Given the description of an element on the screen output the (x, y) to click on. 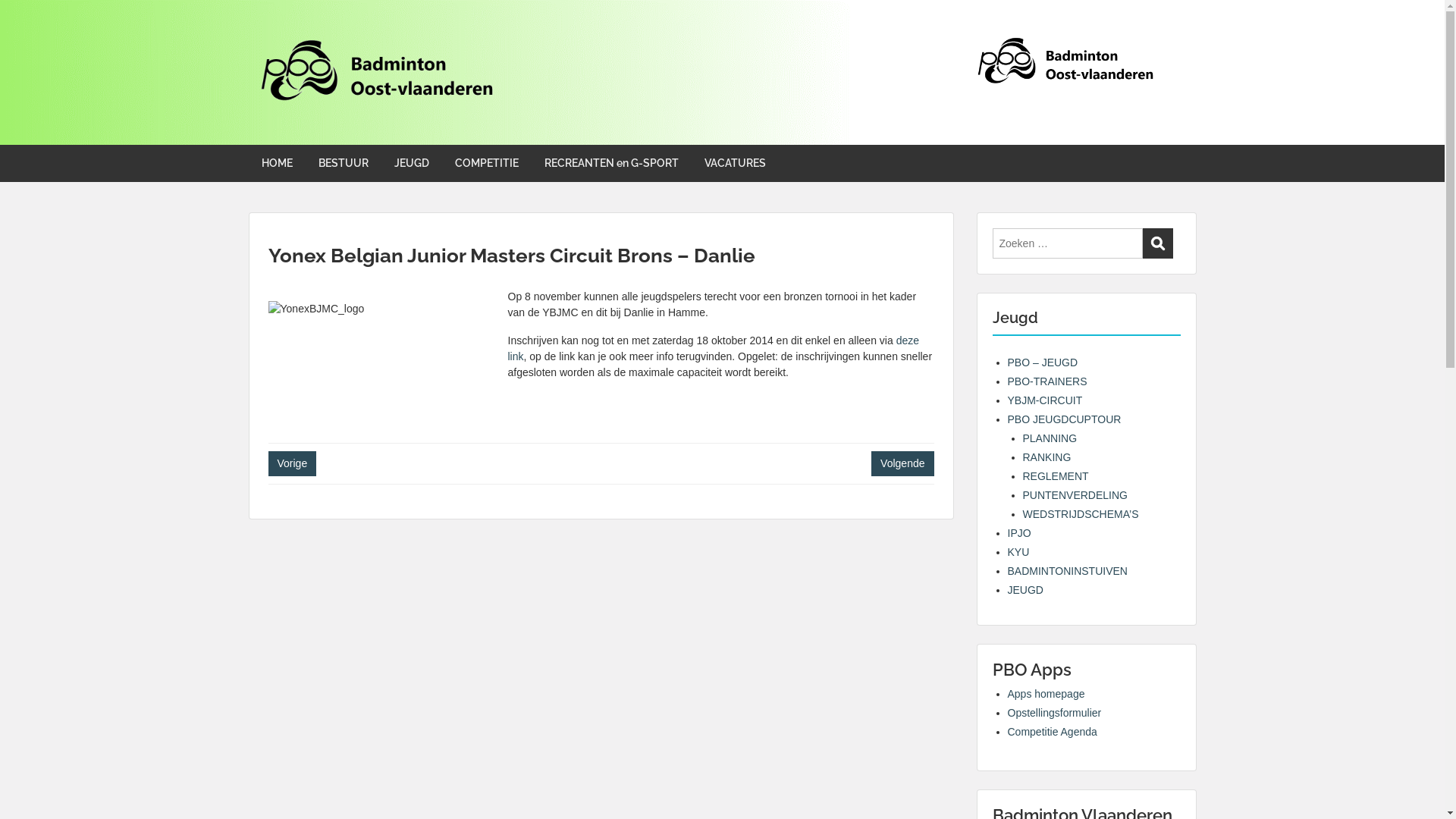
RECREANTEN en G-SPORT Element type: text (610, 163)
JEUGD Element type: text (1024, 589)
IPJO Element type: text (1018, 533)
YBJM-CIRCUIT Element type: text (1044, 400)
Apps homepage Element type: text (1045, 693)
KYU Element type: text (1018, 552)
Zoeken naar: Element type: hover (1066, 243)
HOME Element type: text (276, 163)
PBO JEUGDCUPTOUR Element type: text (1063, 419)
Vorige Element type: text (292, 463)
REGLEMENT Element type: text (1055, 476)
BESTUUR Element type: text (342, 163)
COMPETITIE Element type: text (485, 163)
BADMINTONINSTUIVEN Element type: text (1066, 570)
PLANNING Element type: text (1049, 438)
deze link Element type: text (713, 348)
PBO-TRAINERS Element type: text (1046, 381)
PUNTENVERDELING Element type: text (1074, 495)
Competitie Agenda Element type: text (1051, 731)
Search Element type: text (1157, 243)
JEUGD Element type: text (410, 163)
RANKING Element type: text (1046, 457)
Opstellingsformulier Element type: text (1054, 712)
VACATURES Element type: text (734, 163)
Volgende Element type: text (902, 463)
